Given the description of an element on the screen output the (x, y) to click on. 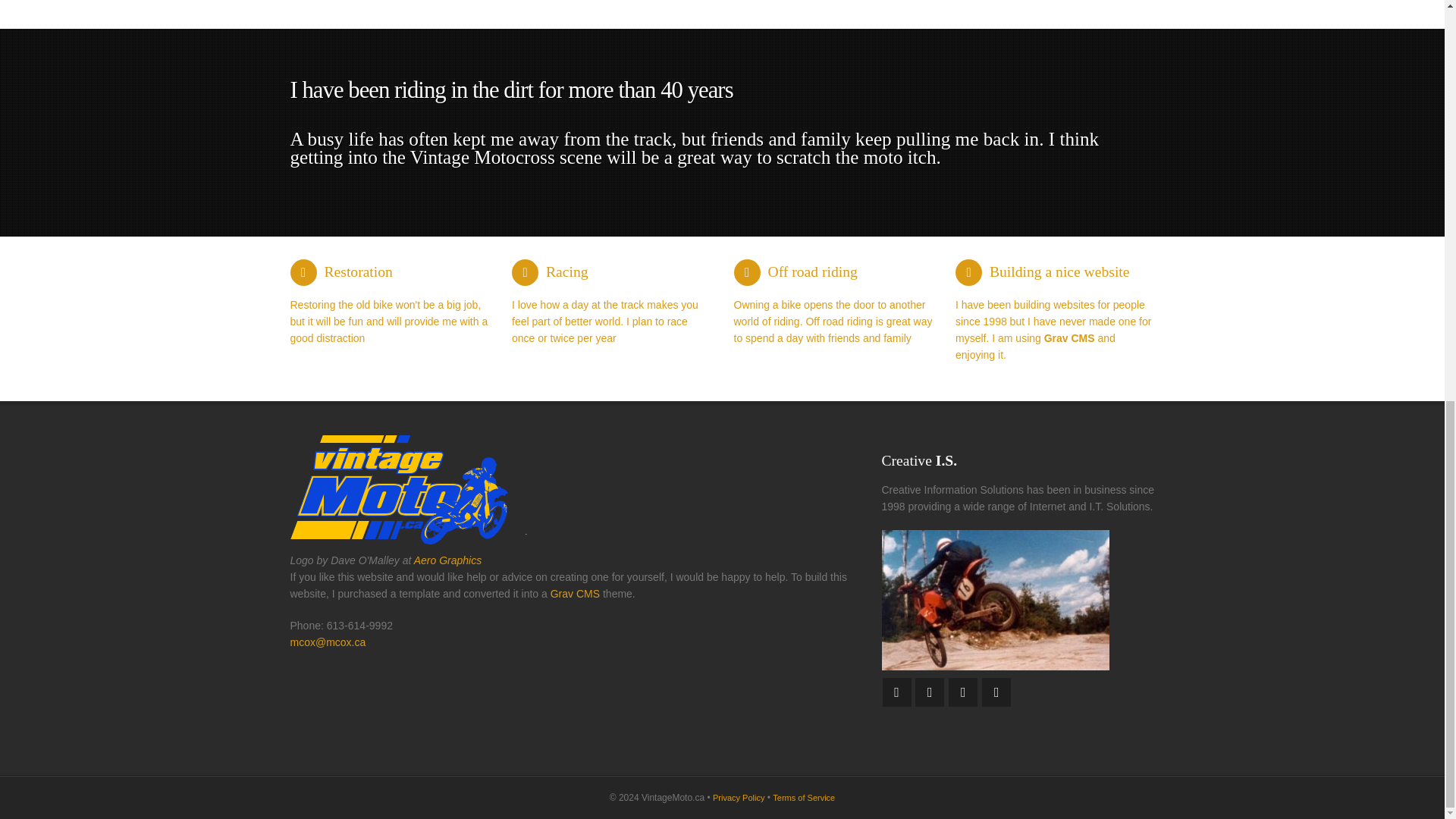
Aero Graphics (447, 560)
Grav CMS (574, 593)
The Project 2016 (994, 599)
Terms of Service (803, 797)
Privacy Policy (738, 797)
